Given the description of an element on the screen output the (x, y) to click on. 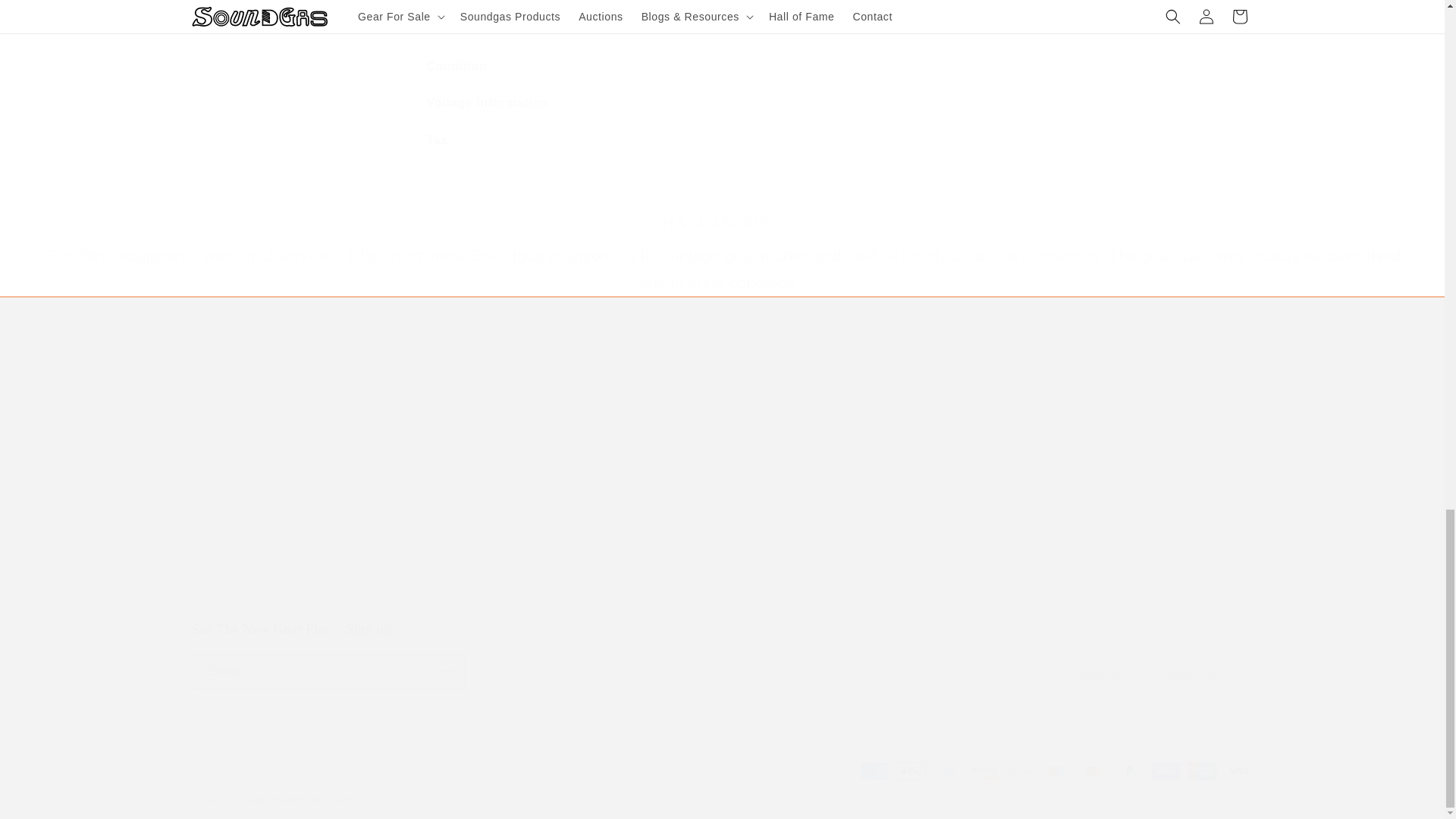
Tax (721, 140)
Voltage Information (721, 654)
Condition (721, 103)
